Given the description of an element on the screen output the (x, y) to click on. 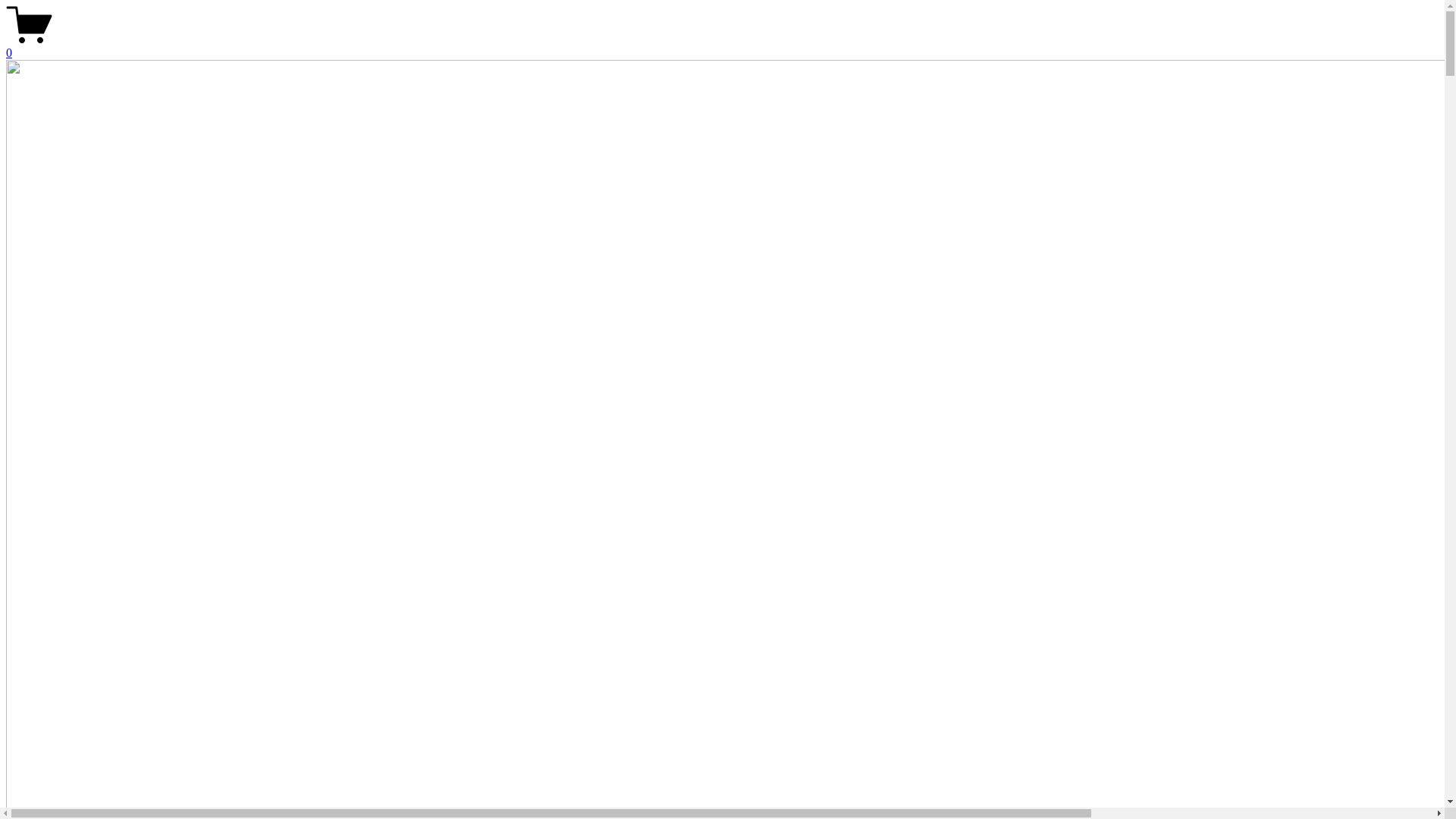
0 Element type: text (722, 45)
